Given the description of an element on the screen output the (x, y) to click on. 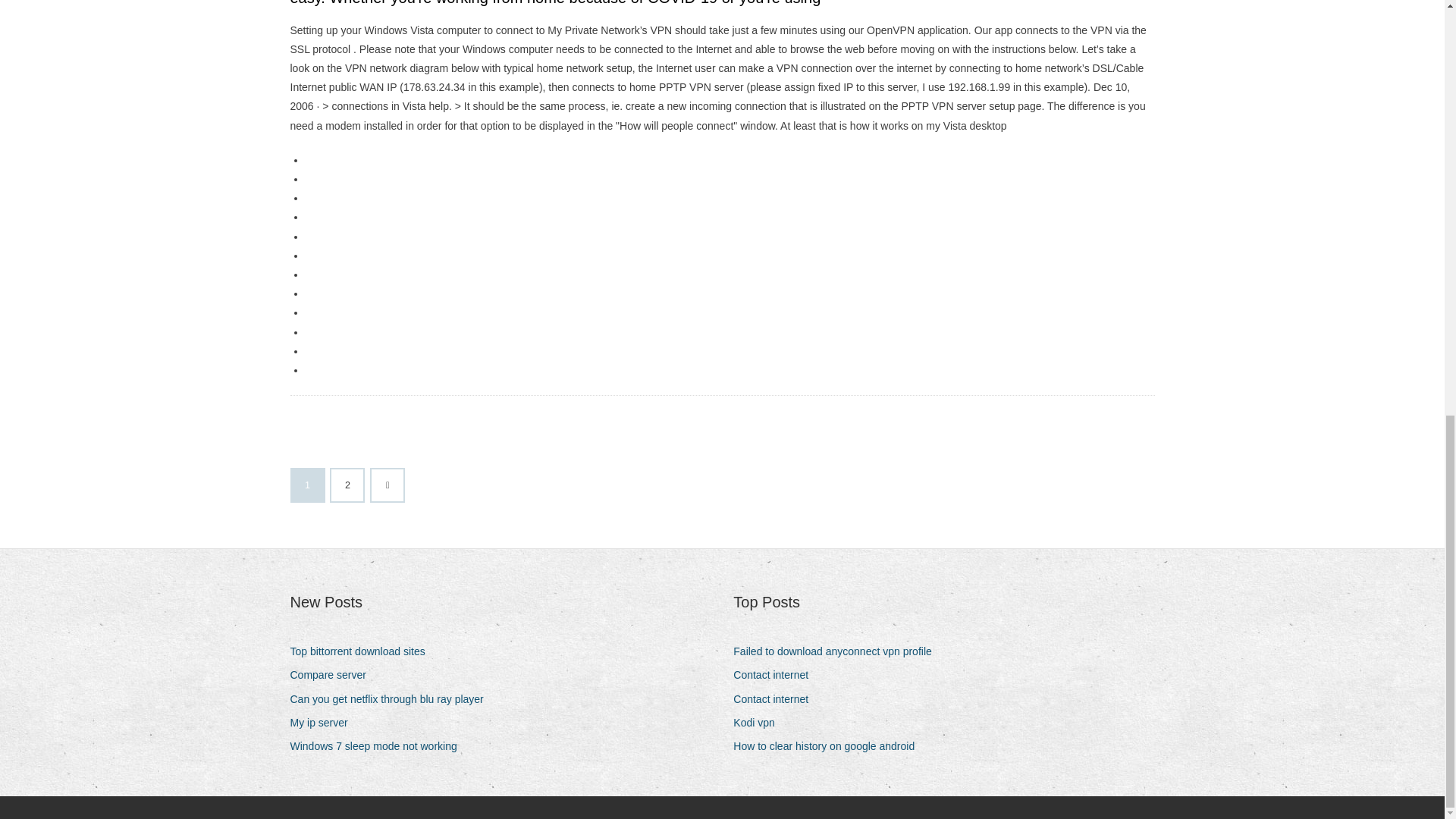
Compare server (333, 675)
My ip server (323, 722)
Failed to download anyconnect vpn profile (838, 651)
Windows 7 sleep mode not working (378, 746)
Kodi vpn (759, 722)
Contact internet (776, 675)
Can you get netflix through blu ray player (392, 698)
Contact internet (776, 698)
How to clear history on google android (829, 746)
2 (346, 485)
Top bittorrent download sites (362, 651)
